Given the description of an element on the screen output the (x, y) to click on. 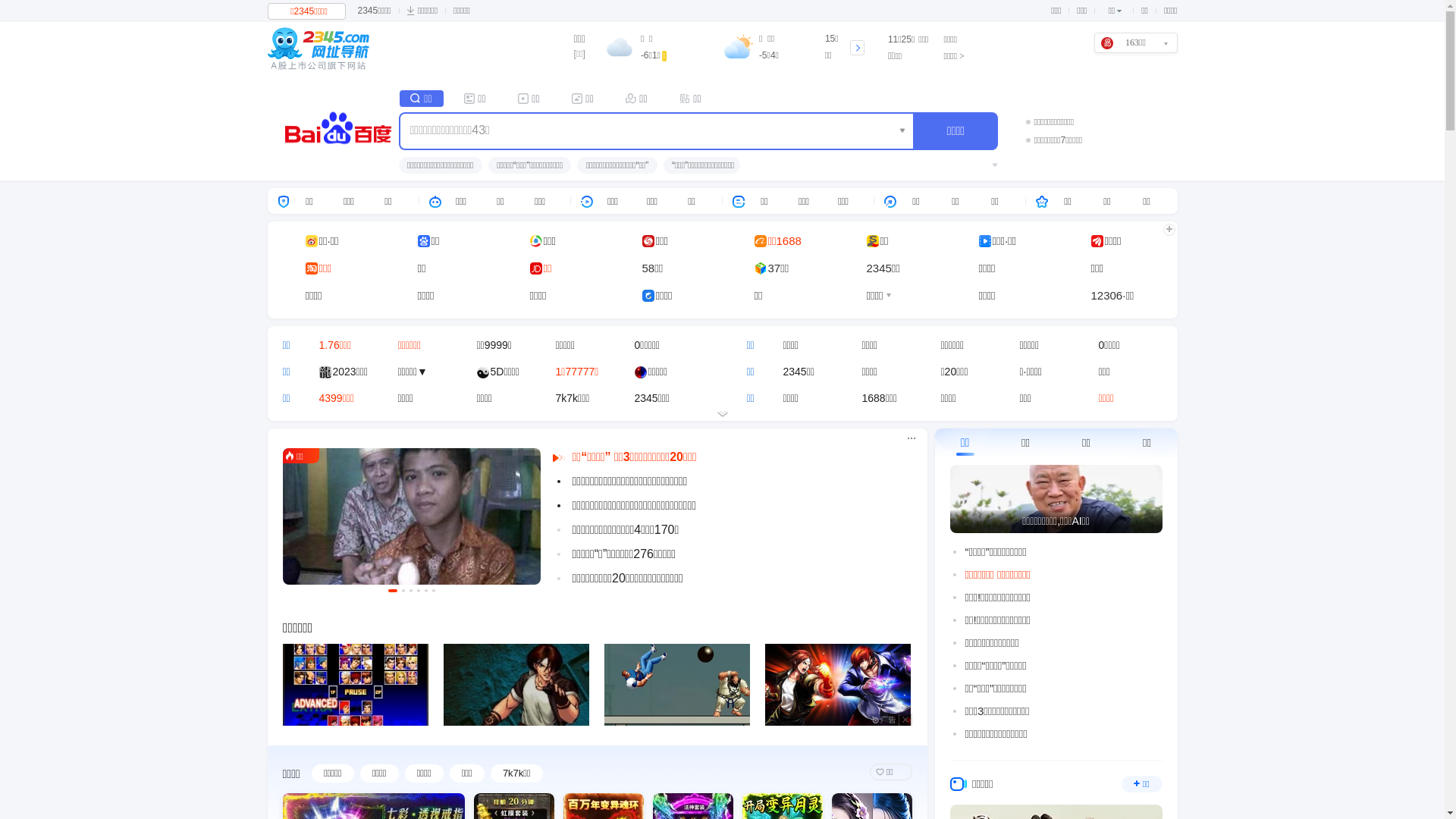
12306 Element type: text (1106, 295)
